Given the description of an element on the screen output the (x, y) to click on. 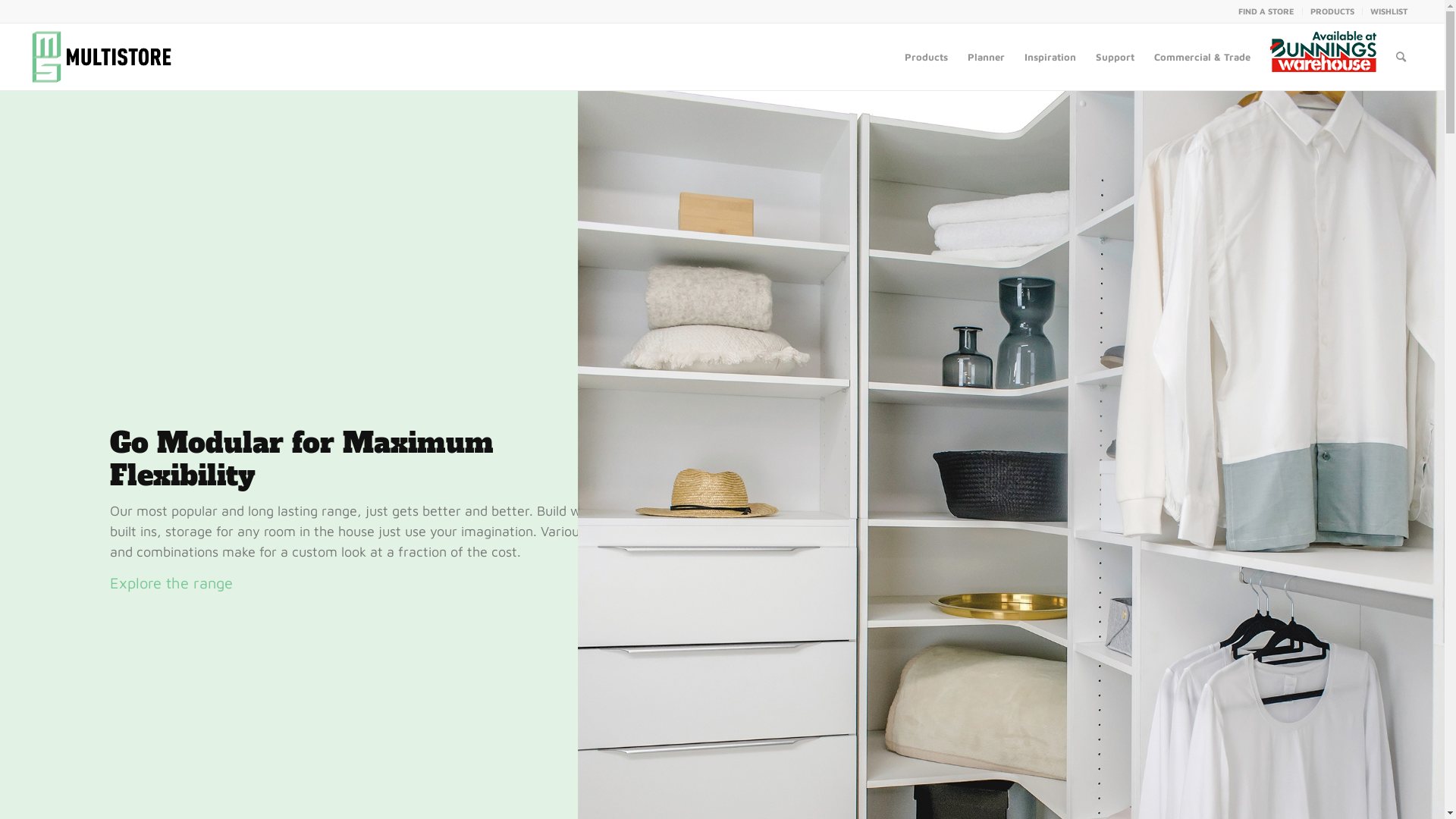
Products Element type: text (925, 56)
PRODUCTS Element type: text (1332, 10)
WISHLIST Element type: text (1388, 10)
Support Element type: text (1114, 56)
Explore the range Element type: text (170, 582)
Commercial & Trade Element type: text (1202, 56)
Inspiration Element type: text (1049, 56)
FIND A STORE Element type: text (1266, 10)
Planner Element type: text (985, 56)
Multistore_logo_RGB_340x156_72dpi Element type: hover (101, 56)
